Given the description of an element on the screen output the (x, y) to click on. 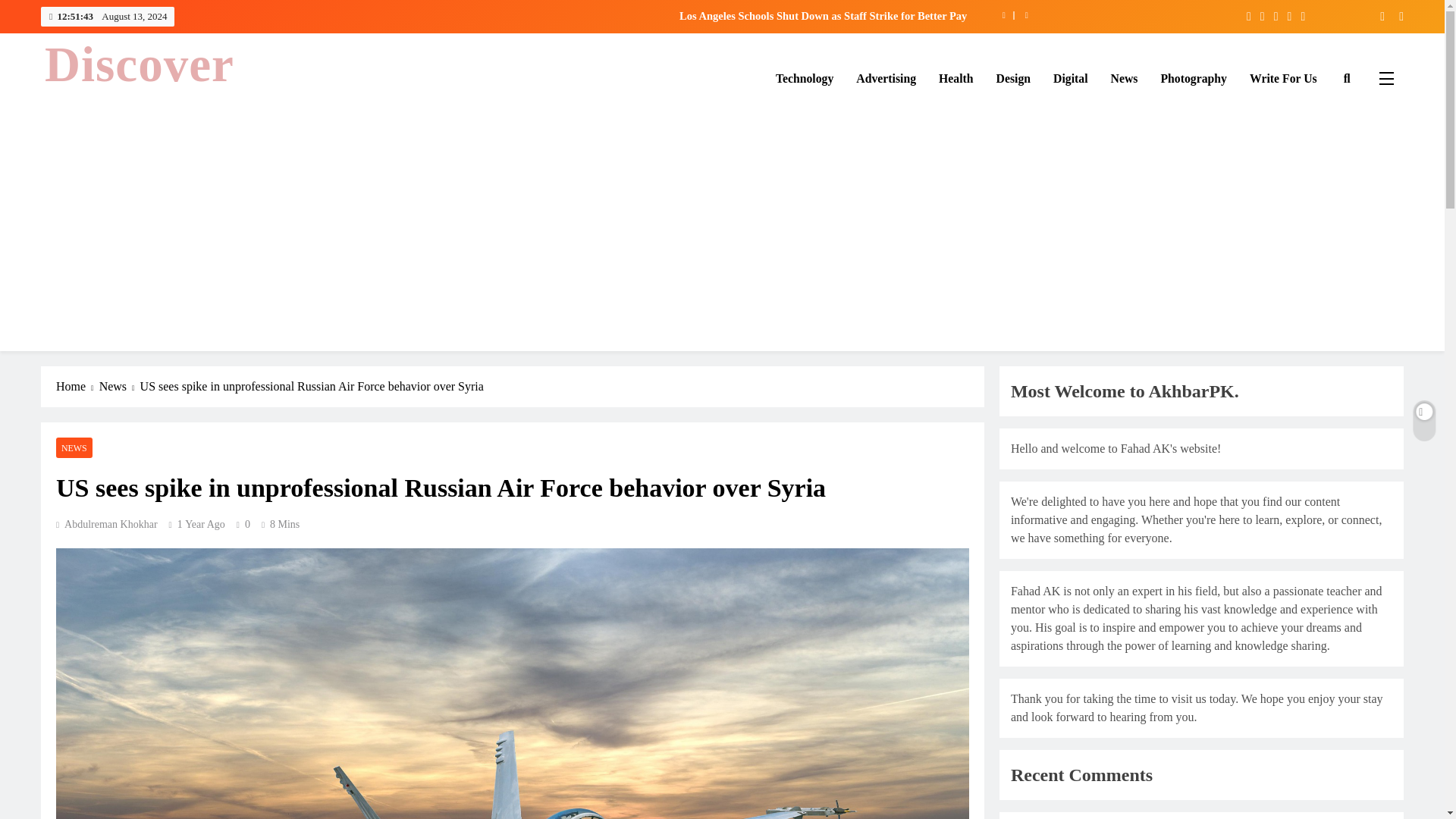
Write For Us (1283, 77)
Los Angeles Schools Shut Down as Staff Strike for Better Pay (639, 15)
Abdulreman Khokhar (106, 523)
Los Angeles Schools Shut Down as Staff Strike for Better Pay (639, 15)
Health (956, 77)
Advertising (885, 77)
Digital (1070, 77)
Discover (139, 63)
Technology (804, 77)
Home (77, 386)
